Given the description of an element on the screen output the (x, y) to click on. 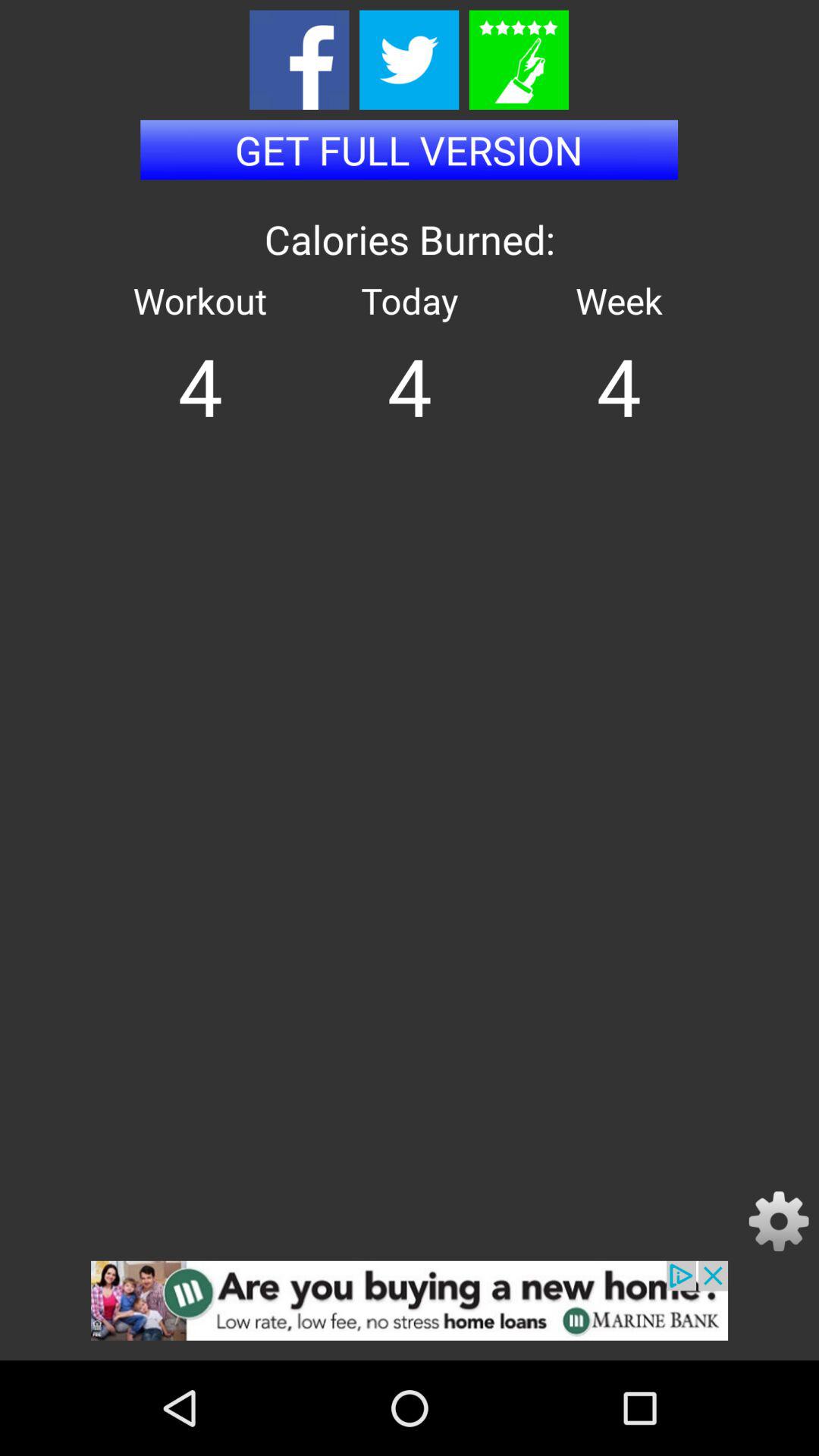
share on twitter (408, 59)
